Given the description of an element on the screen output the (x, y) to click on. 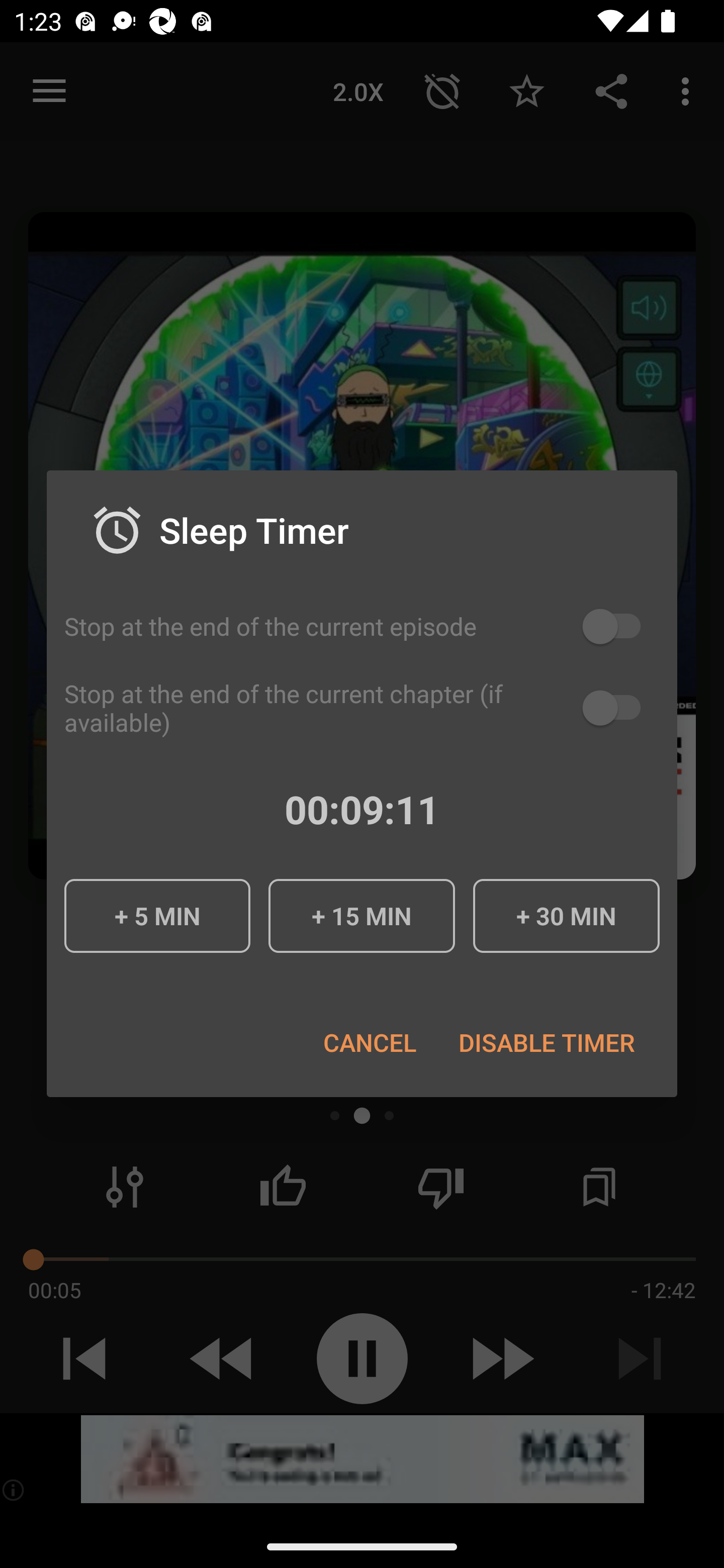
Stop at the end of the current episode (361, 626)
+ 5 MIN (157, 916)
+ 15 MIN (361, 916)
+ 30 MIN (565, 916)
CANCEL (369, 1042)
DISABLE TIMER (546, 1042)
